Given the description of an element on the screen output the (x, y) to click on. 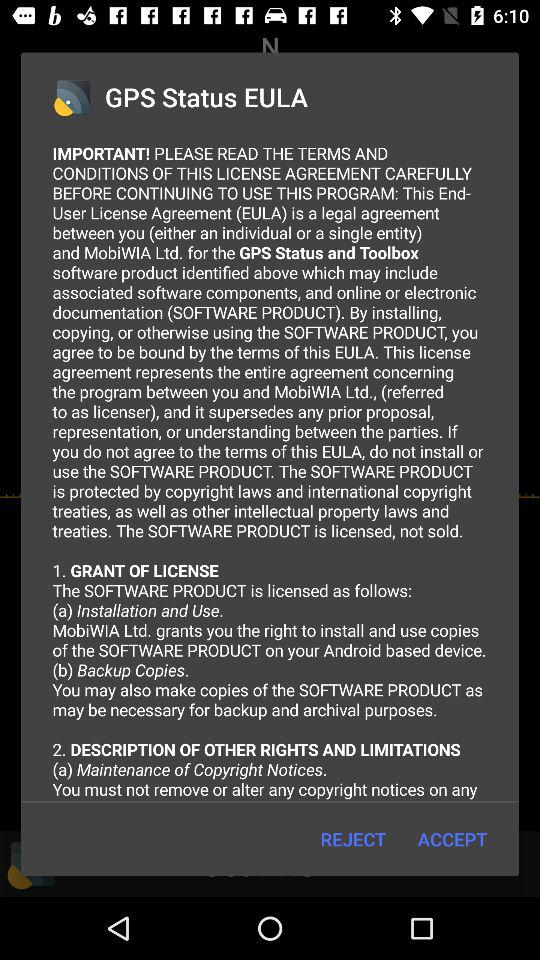
press the accept item (452, 838)
